Given the description of an element on the screen output the (x, y) to click on. 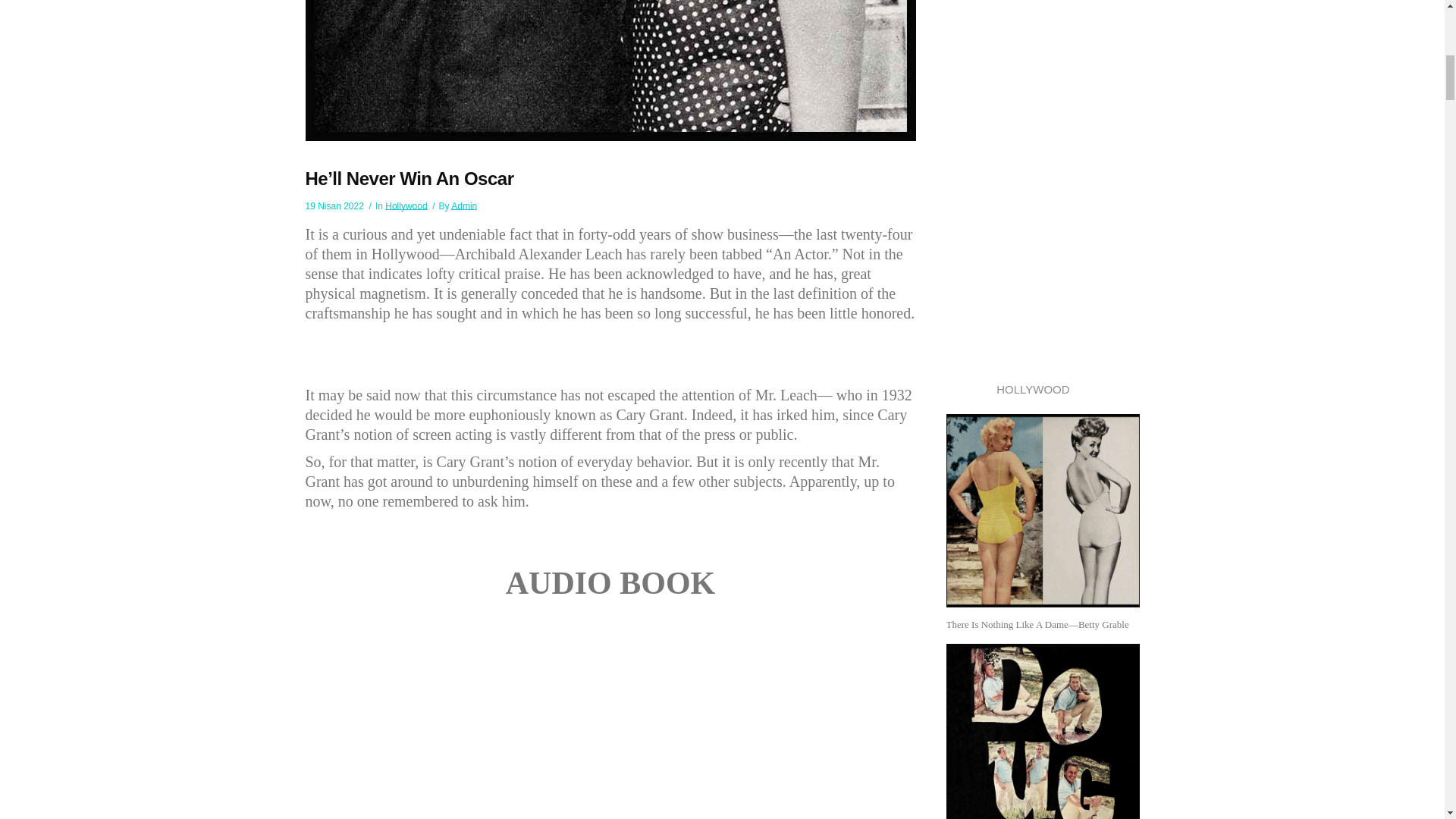
Hollywood (405, 205)
